Given the description of an element on the screen output the (x, y) to click on. 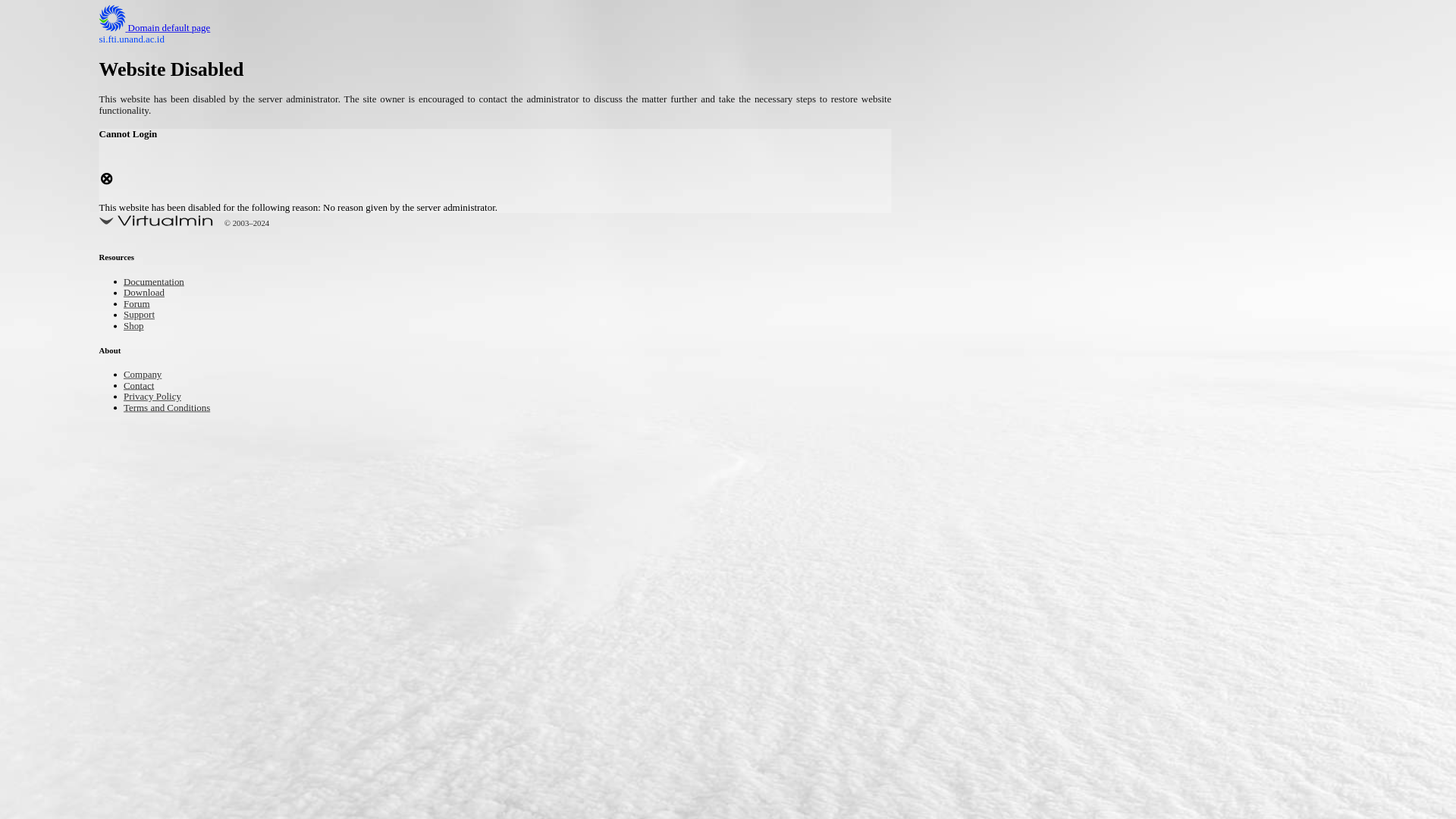
Contact (142, 386)
Support (142, 315)
Documentation (160, 282)
Shop (135, 327)
Terms and Conditions (176, 408)
Privacy Policy (159, 397)
Download (148, 293)
Company (146, 374)
Domain default page (167, 29)
Forum (139, 305)
